Given the description of an element on the screen output the (x, y) to click on. 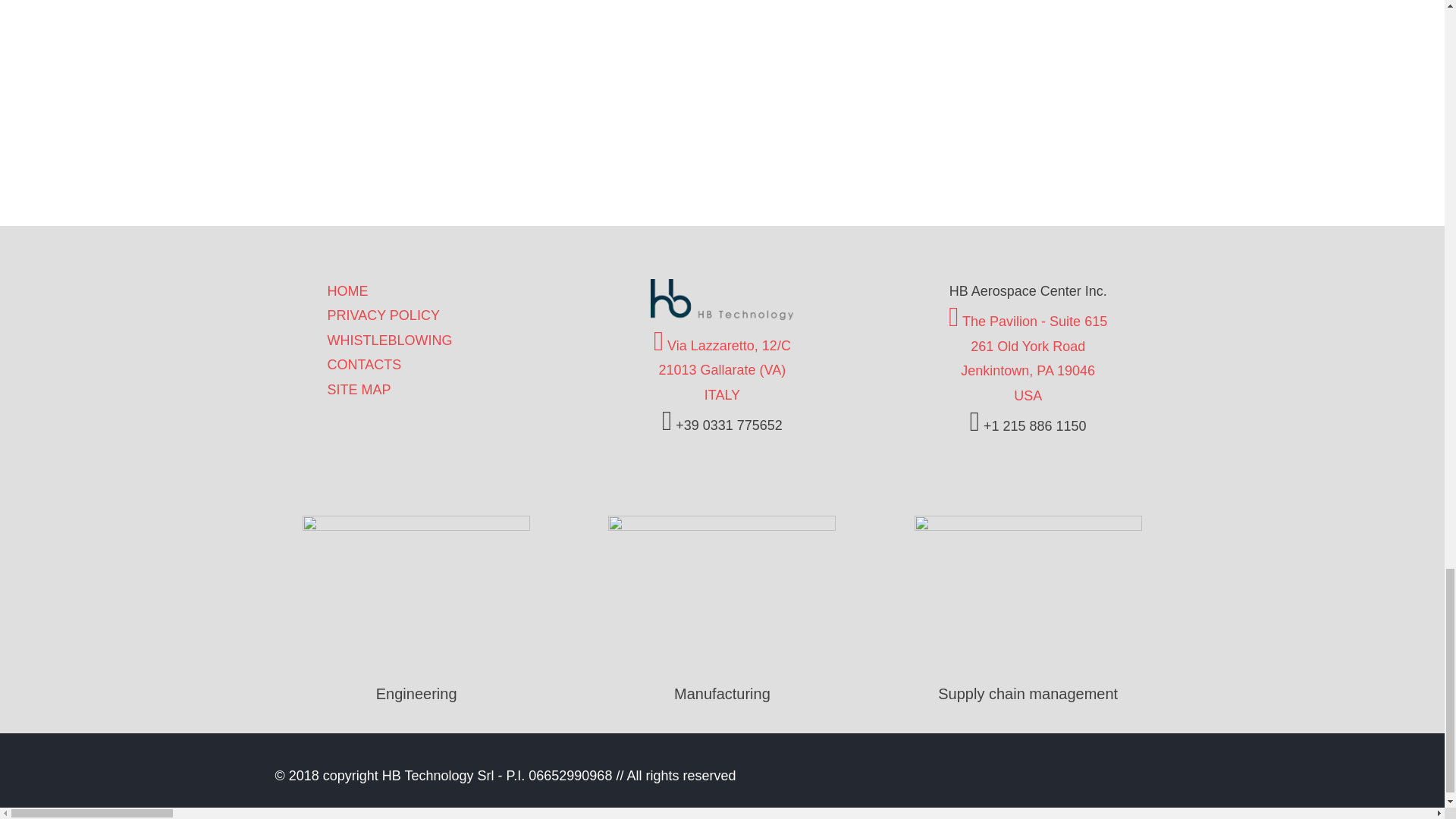
HB Technology (721, 314)
